Given the description of an element on the screen output the (x, y) to click on. 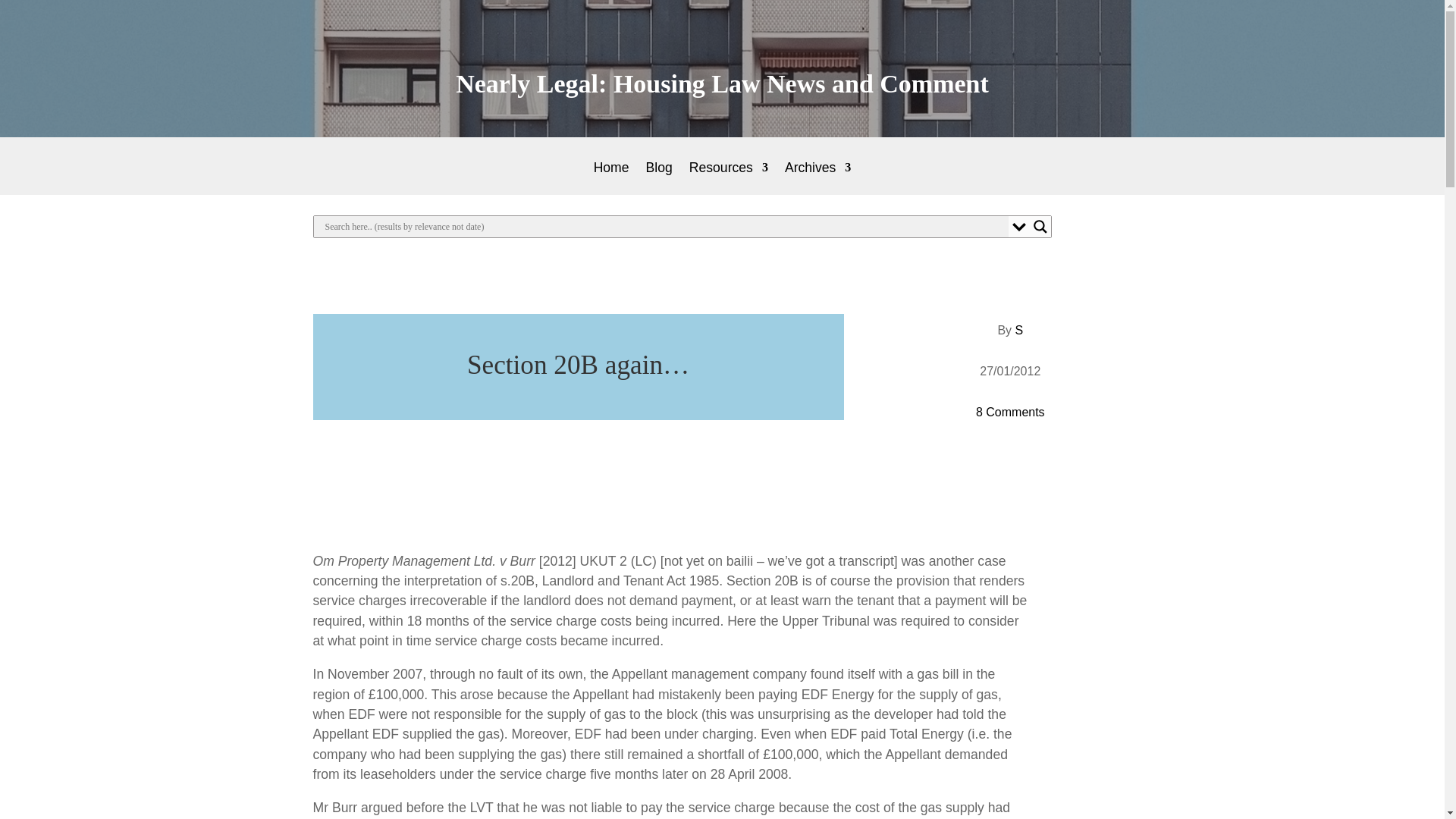
Resources (728, 178)
Archives (817, 178)
Home (611, 178)
